Given the description of an element on the screen output the (x, y) to click on. 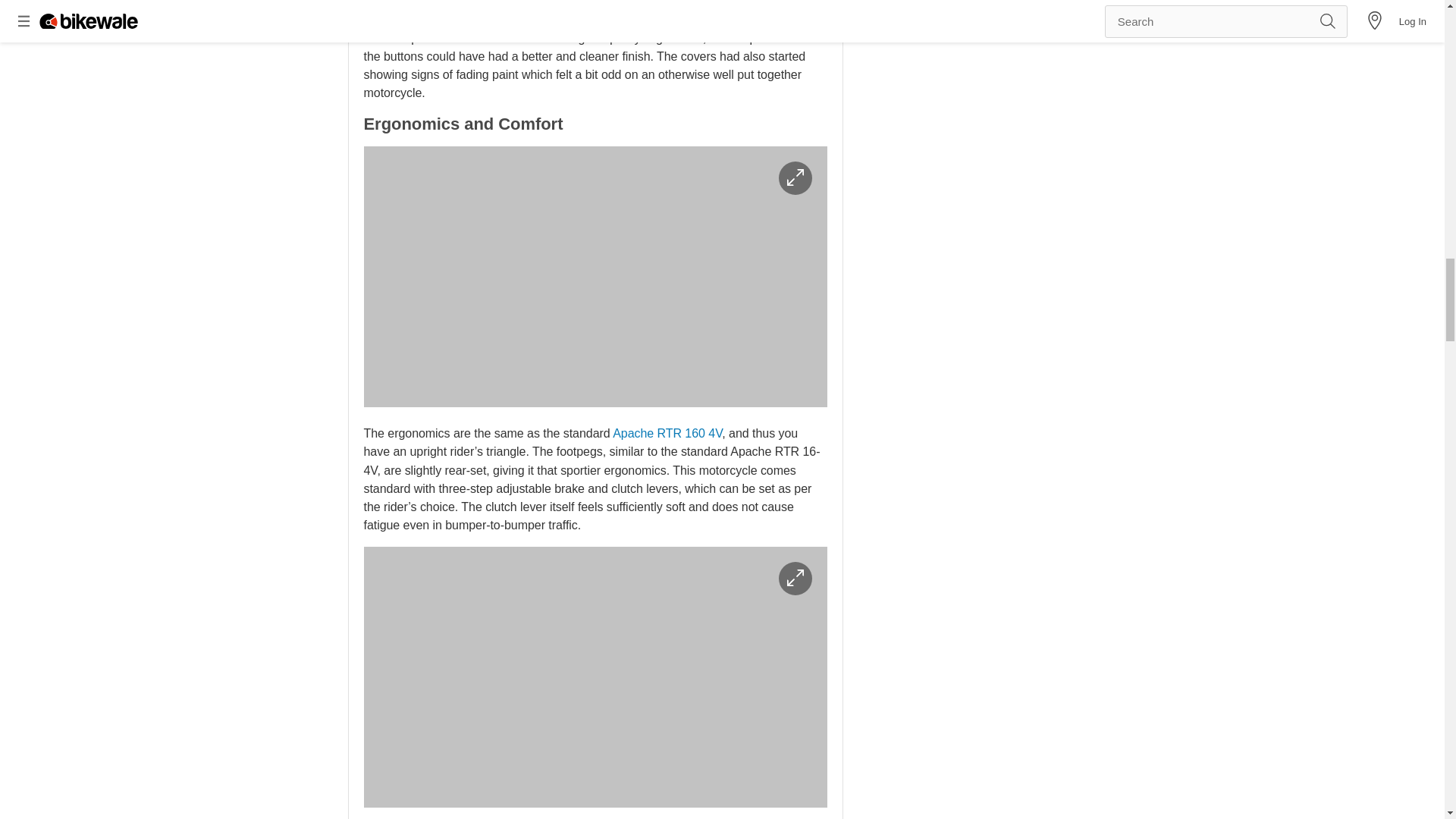
TVS Apache RTR 165RP Right Side View (595, 276)
TVS Apache RTR 165RP Rear Suspension (595, 677)
Apache RTR 160 4V (667, 432)
